Given the description of an element on the screen output the (x, y) to click on. 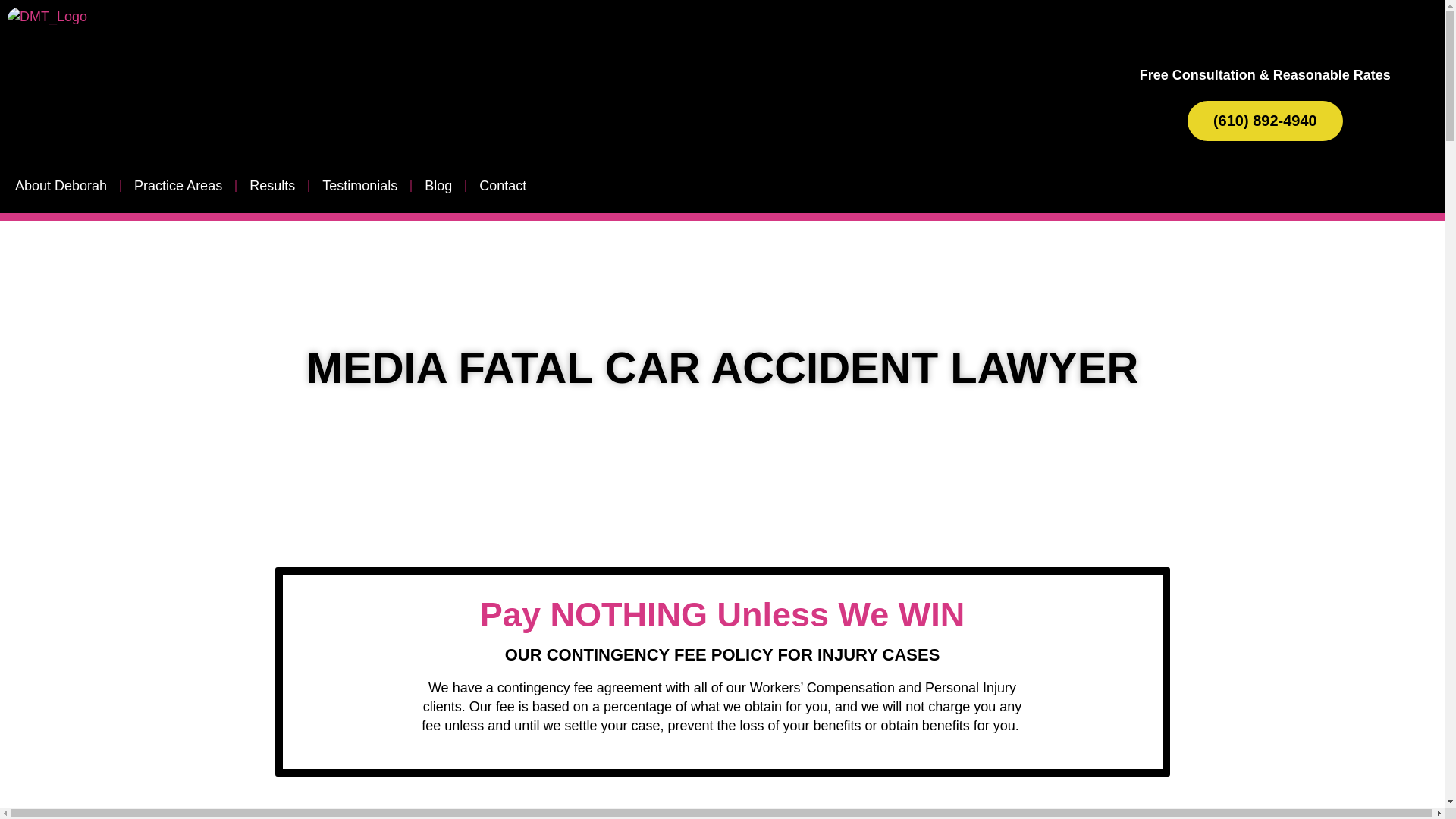
Contact (502, 185)
Blog (438, 185)
Practice Areas (178, 185)
Testimonials (359, 185)
About Deborah (61, 185)
Results (271, 185)
